Given the description of an element on the screen output the (x, y) to click on. 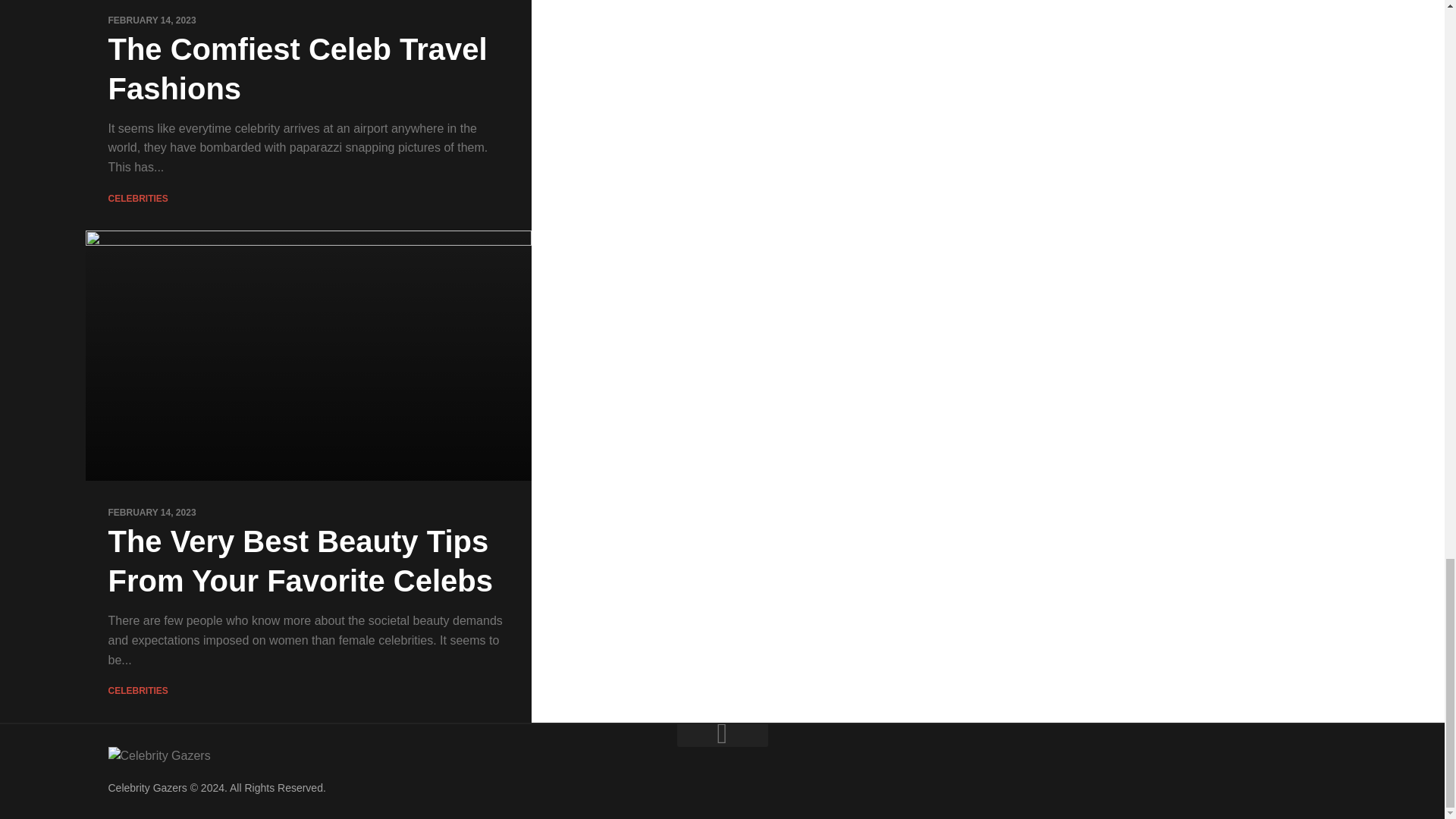
The Very Best Beauty Tips From Your Favorite Celebs (300, 560)
The Comfiest Celeb Travel Fashions (296, 68)
CELEBRITIES (137, 690)
CELEBRITIES (137, 198)
